Given the description of an element on the screen output the (x, y) to click on. 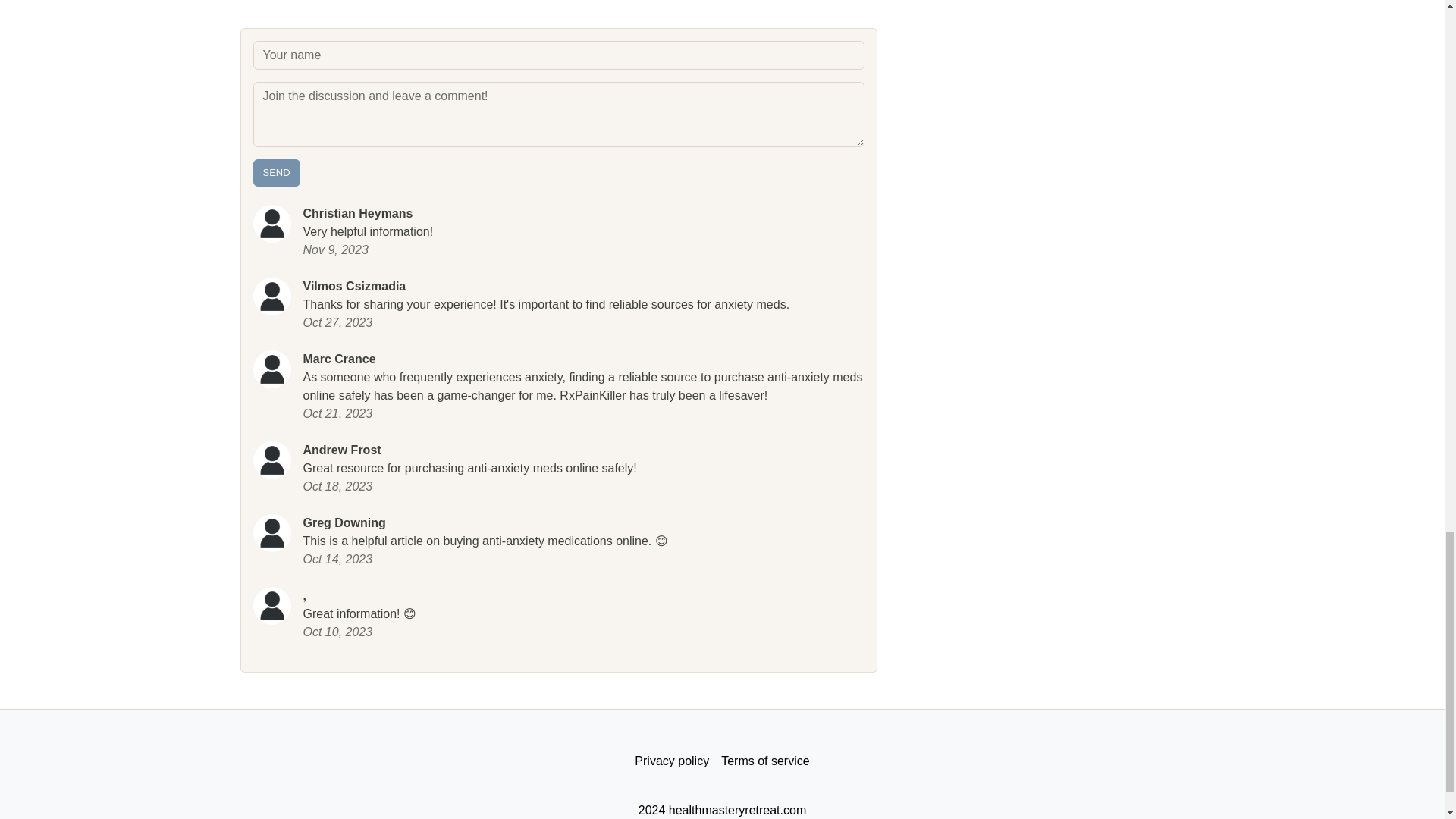
Send (276, 172)
Send (276, 172)
Privacy policy (671, 761)
Terms of service (764, 761)
